Given the description of an element on the screen output the (x, y) to click on. 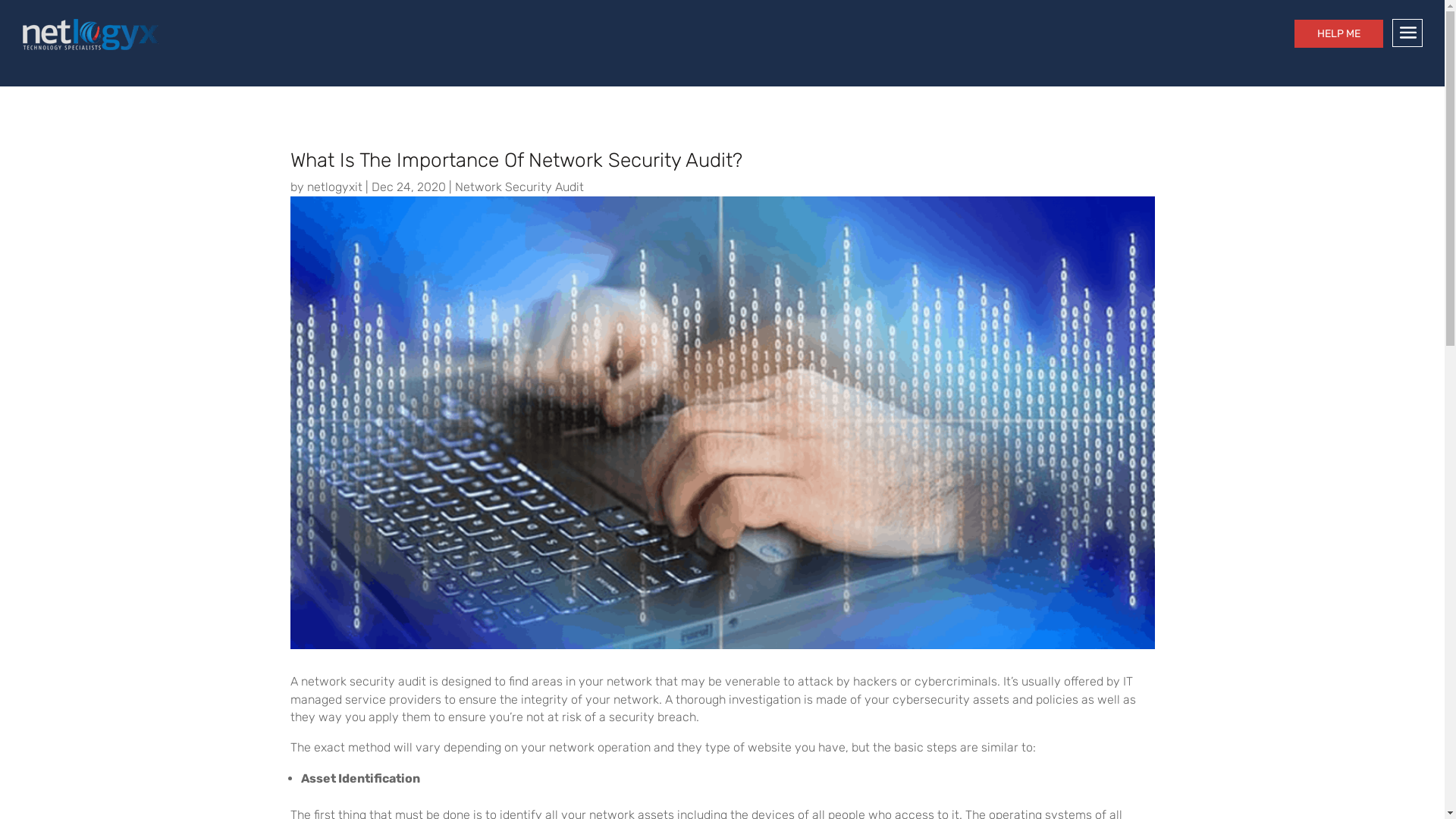
Network Security Audit Element type: text (519, 186)
HELP ME Element type: text (1338, 33)
netlogyxit Element type: text (333, 186)
network-scurity-audit-img Element type: hover (721, 422)
